Given the description of an element on the screen output the (x, y) to click on. 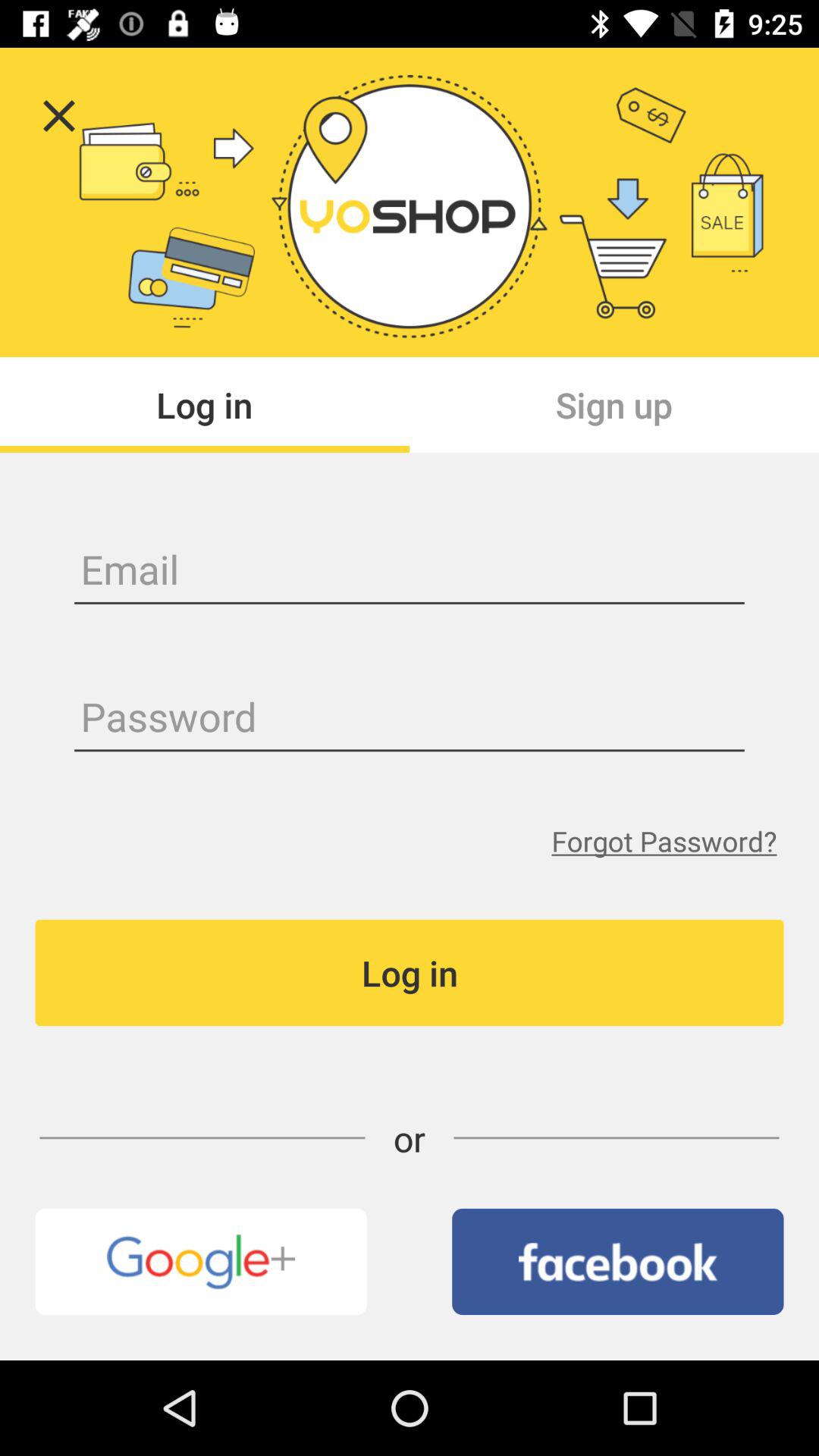
tap icon on the right (663, 840)
